Given the description of an element on the screen output the (x, y) to click on. 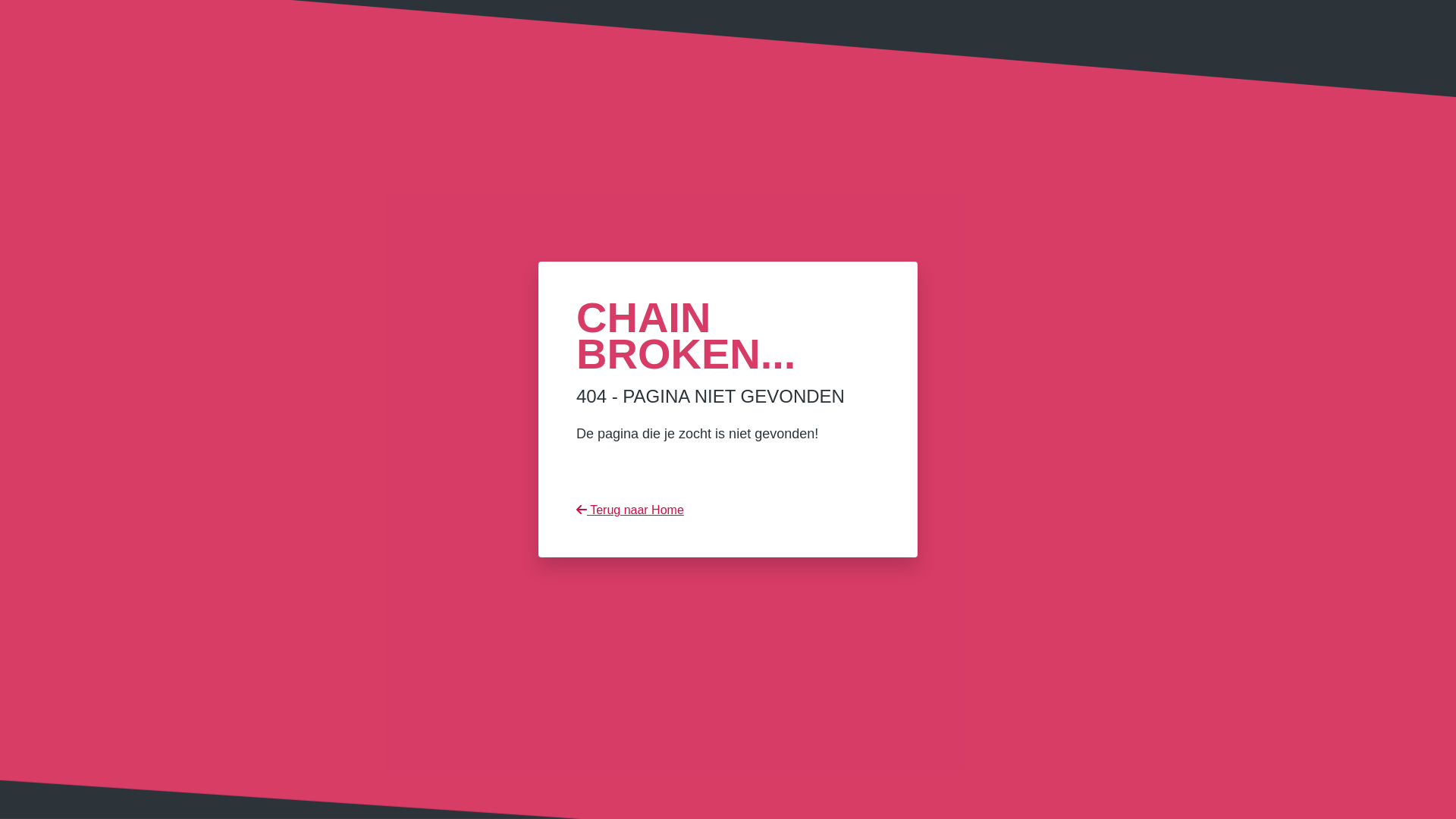
Terug naar Home Element type: text (630, 509)
